Given the description of an element on the screen output the (x, y) to click on. 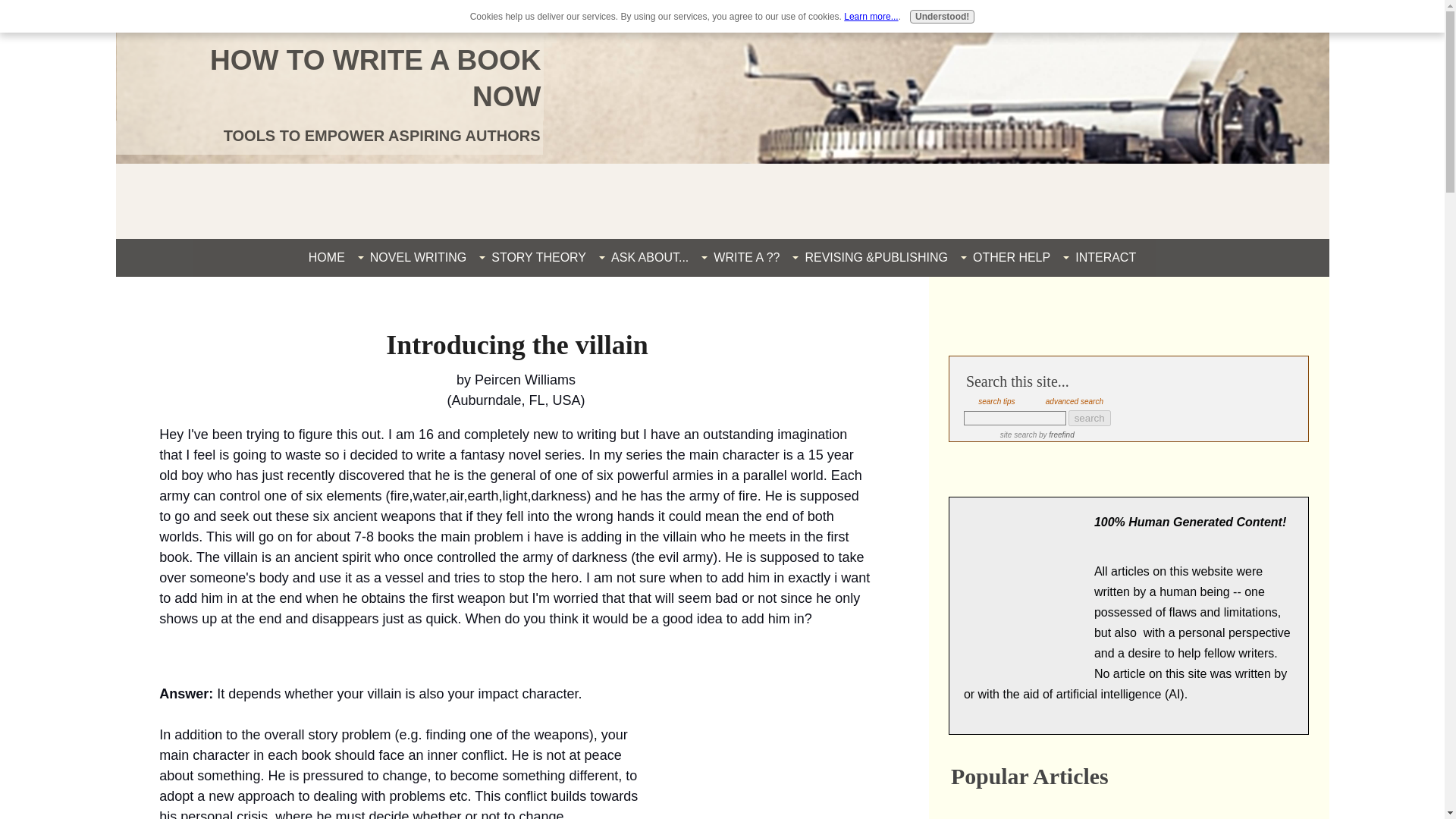
by freefind (1055, 434)
advanced search (1074, 401)
HOME (326, 257)
search (1089, 417)
how to write horror (1141, 808)
search tips (996, 401)
HOW TO WRITE A BOOK NOW (374, 78)
write a synopsis (1009, 808)
site search (1018, 434)
search (1089, 417)
